Given the description of an element on the screen output the (x, y) to click on. 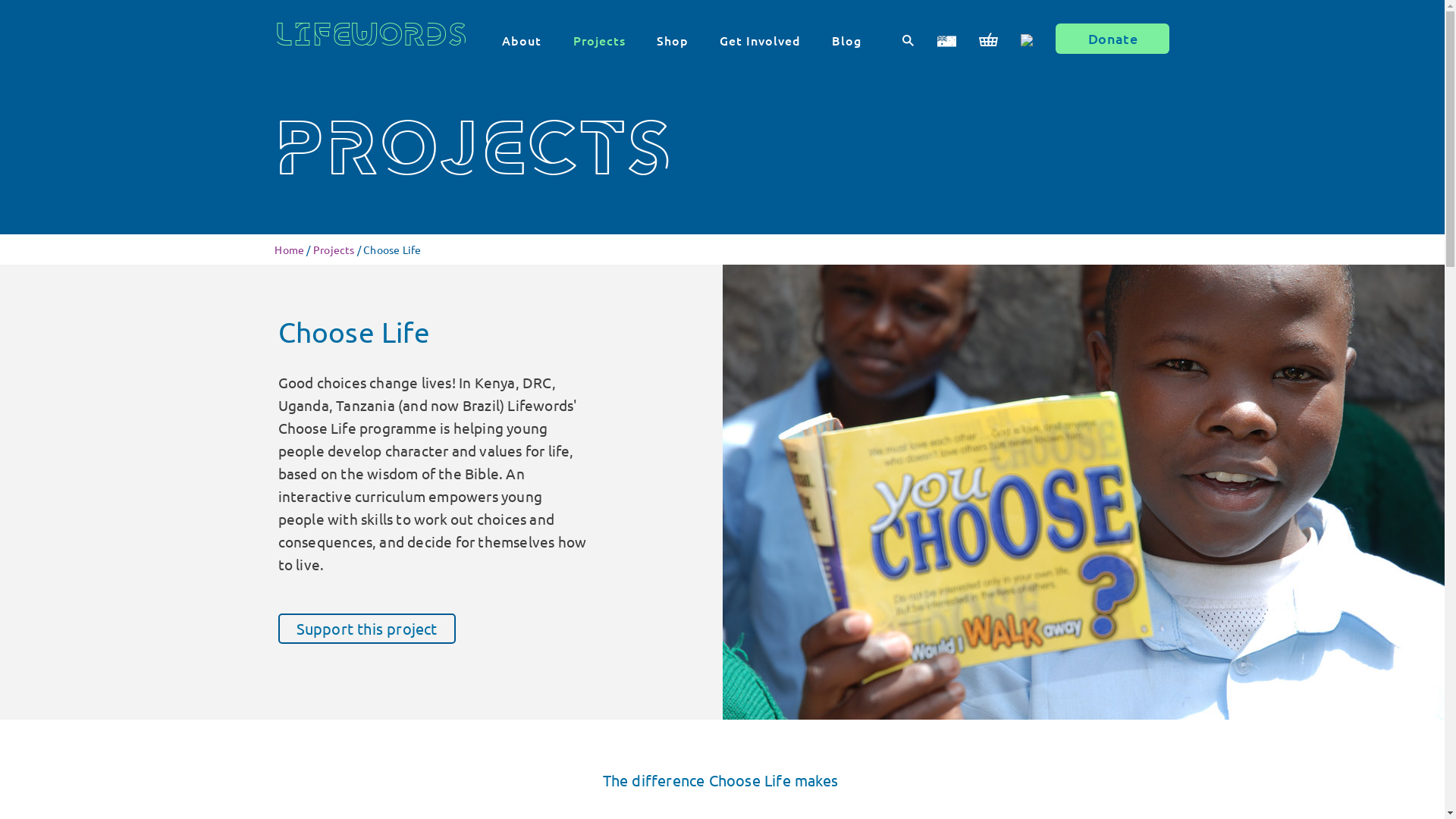
About Element type: text (521, 39)
Shop Element type: text (672, 39)
Projects Element type: text (599, 39)
Home Element type: text (289, 249)
Lifewords Element type: text (370, 44)
Donate Element type: text (1112, 38)
Projects Element type: text (333, 249)
Get Involved Element type: text (759, 39)
Blog Element type: text (846, 39)
Support this project Element type: text (366, 628)
